Given the description of an element on the screen output the (x, y) to click on. 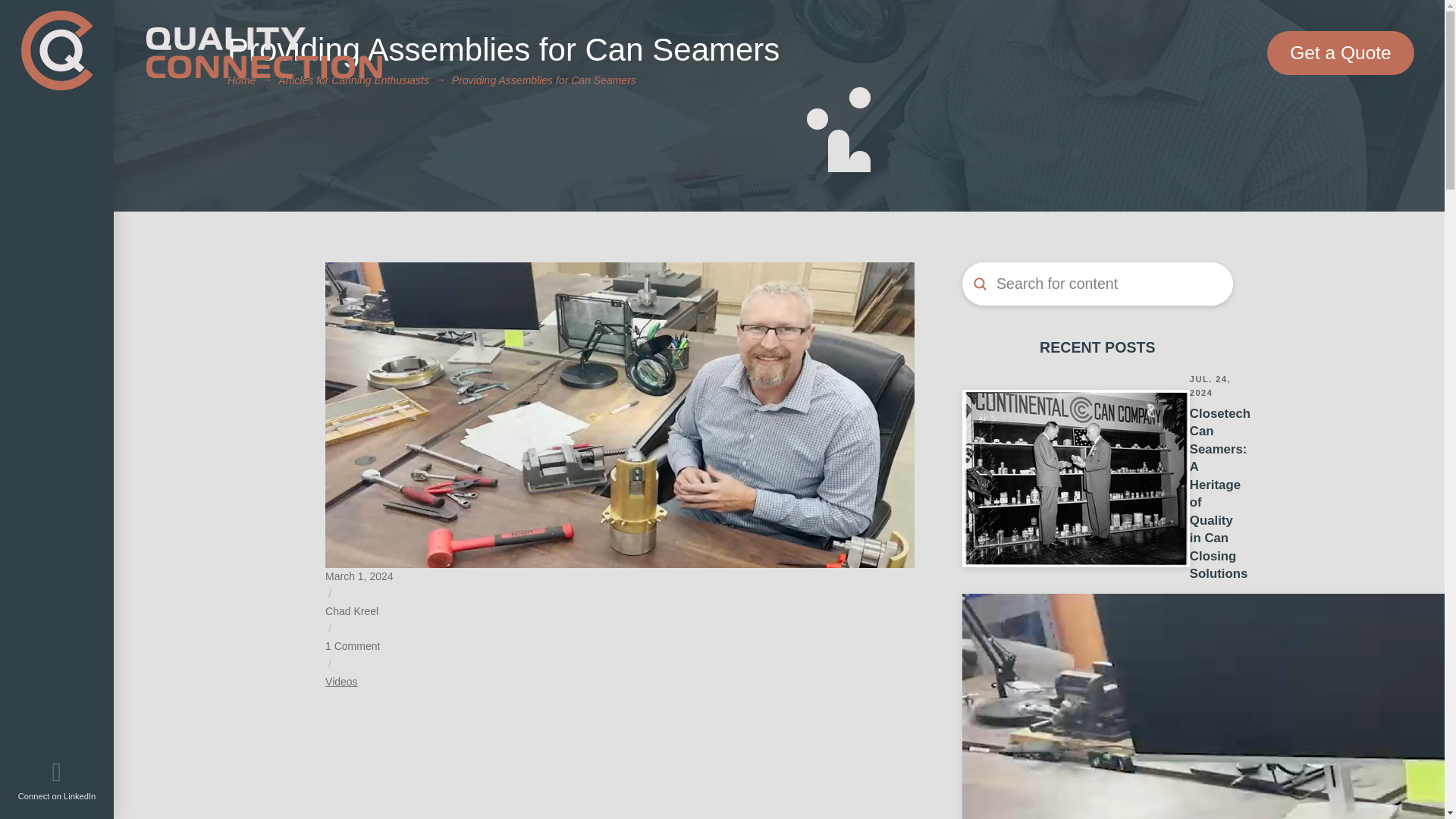
Articles for Canning Enthusiasts (353, 79)
Connect on LinkedIn (57, 780)
Get a Quote (1339, 53)
You Are Here (543, 79)
Videos (341, 682)
Submit (980, 283)
1 Comment (352, 646)
Providing Assemblies for Can Seamers (543, 79)
Home (241, 79)
